Given the description of an element on the screen output the (x, y) to click on. 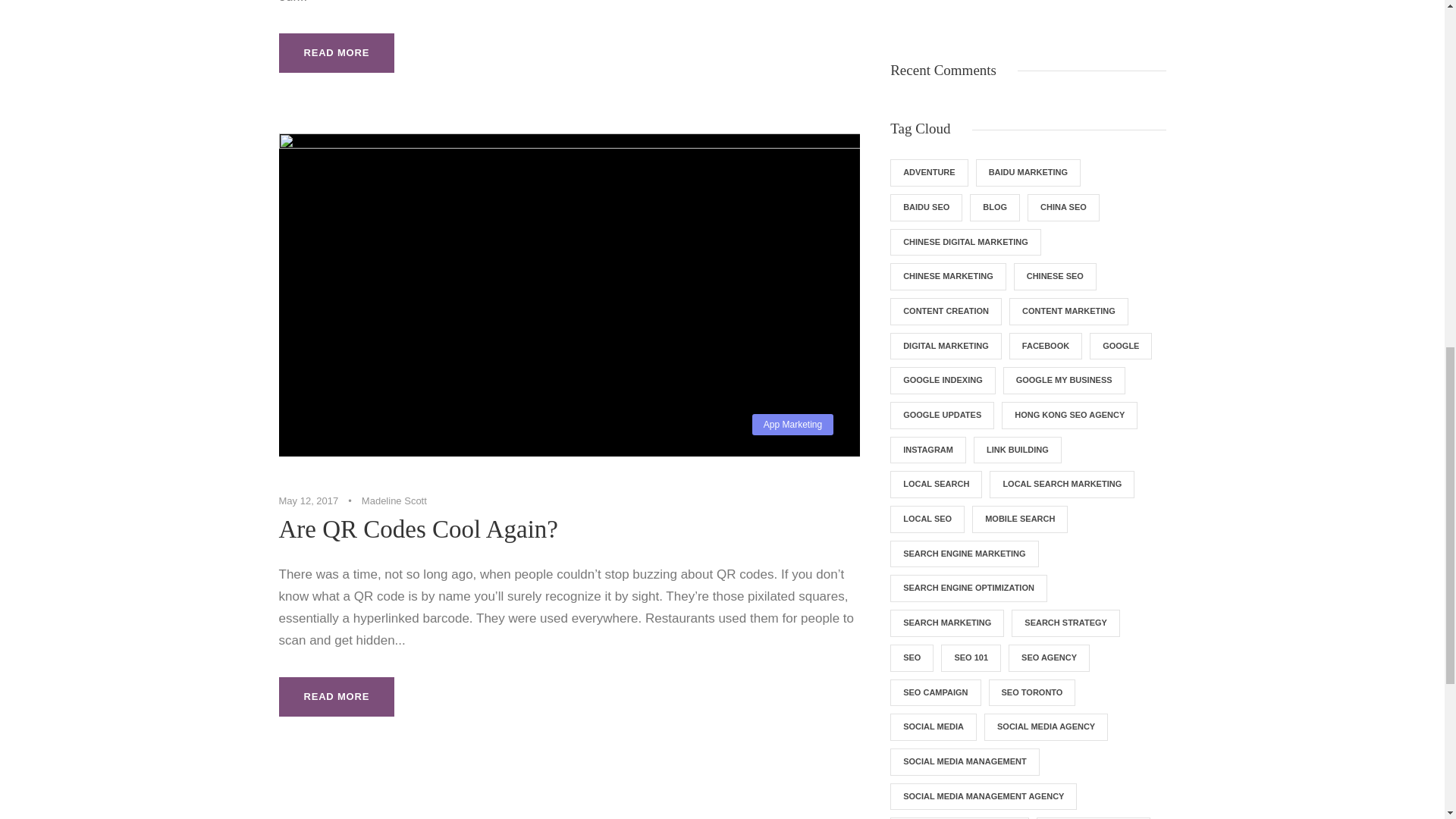
READ MORE (336, 52)
App Marketing (792, 424)
May 12, 2017 (309, 500)
Are QR Codes Cool Again? (418, 528)
toronto-app-development (928, 6)
READ MORE (336, 696)
Posts by Madeline Scott (393, 500)
Madeline Scott (393, 500)
